Given the description of an element on the screen output the (x, y) to click on. 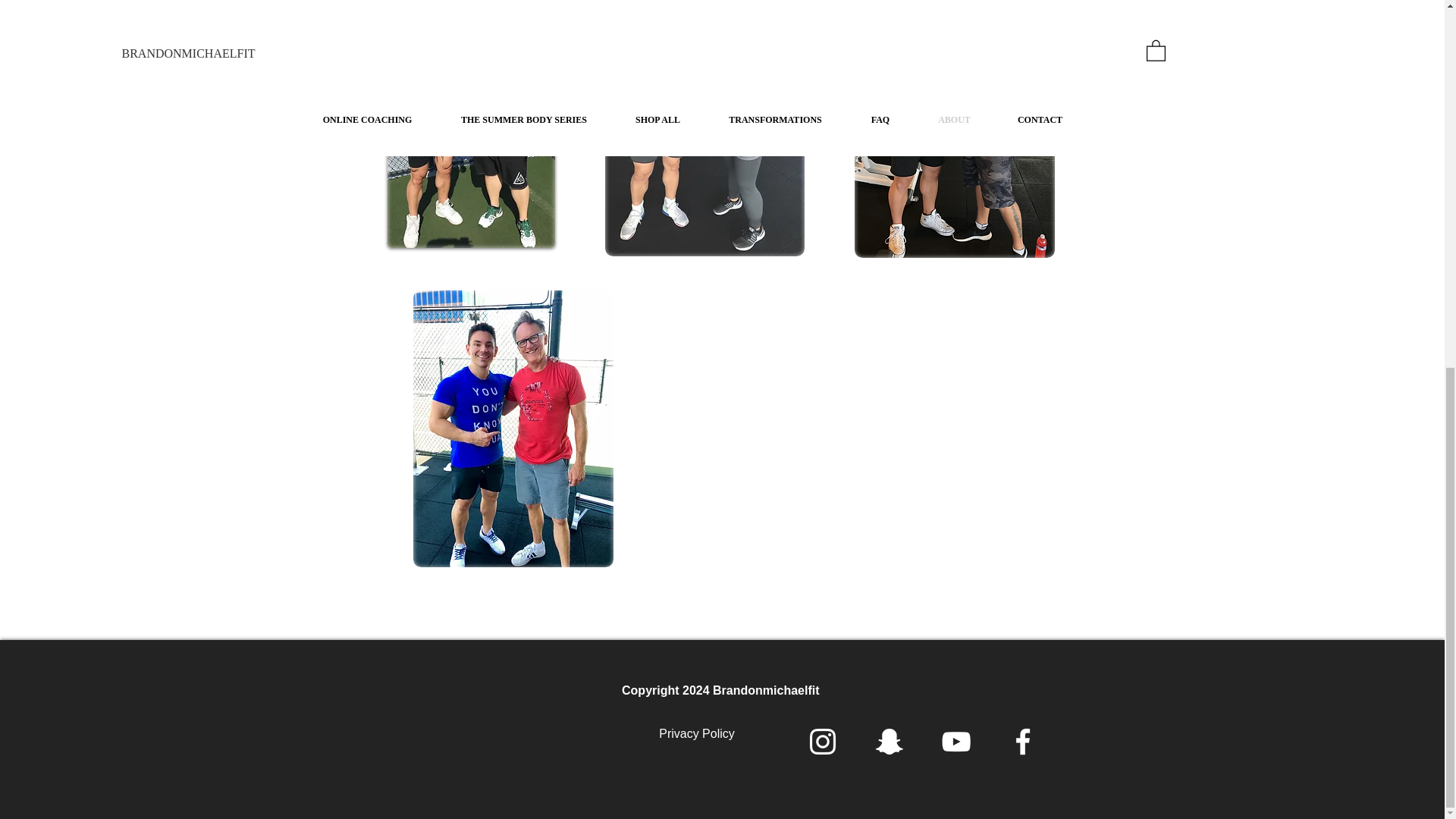
Privacy Policy (697, 733)
